Given the description of an element on the screen output the (x, y) to click on. 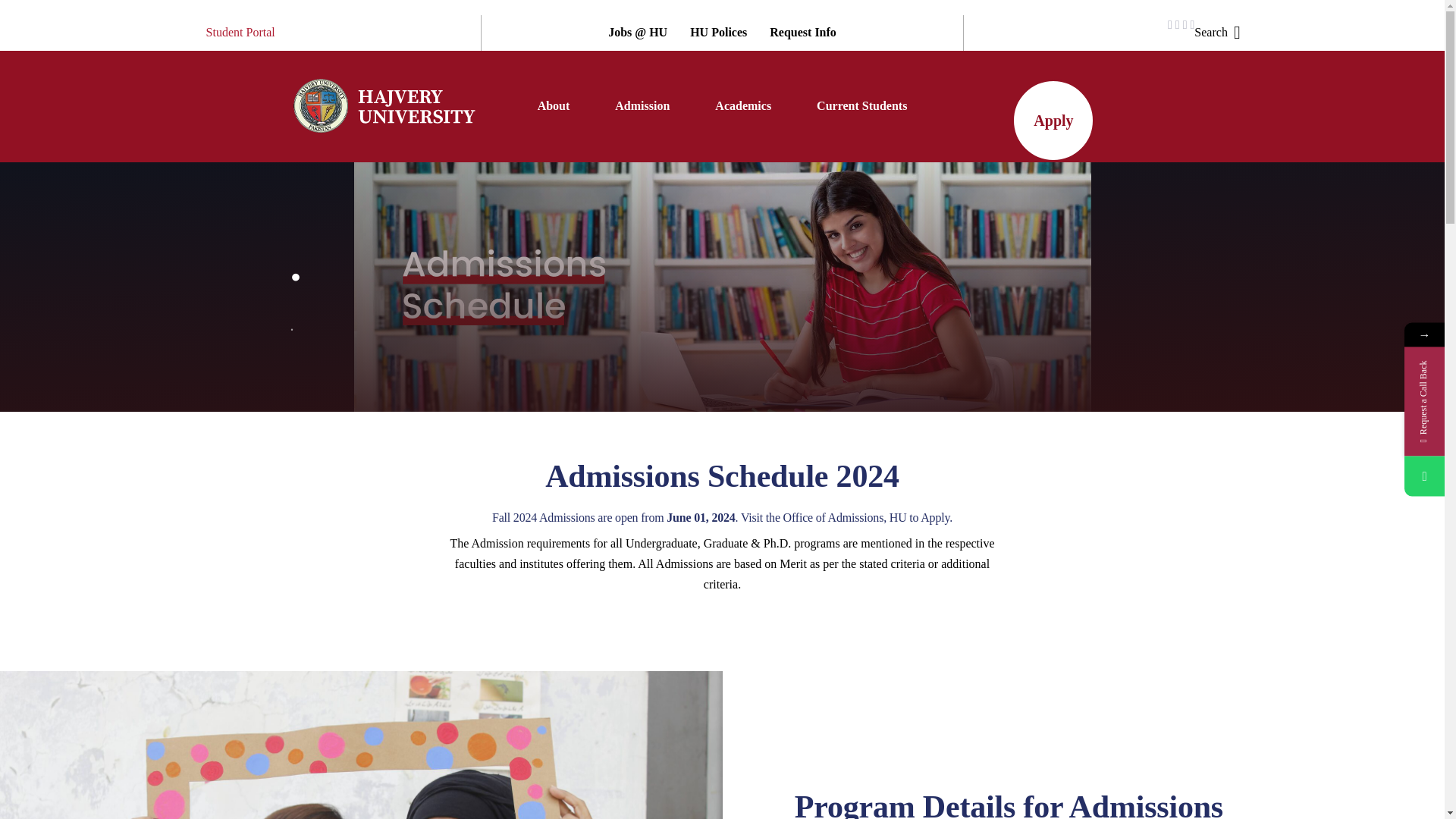
Program Details for Admissions (361, 744)
Student Portal (240, 32)
Request Info (802, 32)
Admission Open (1052, 120)
HU Polices (718, 32)
